Given the description of an element on the screen output the (x, y) to click on. 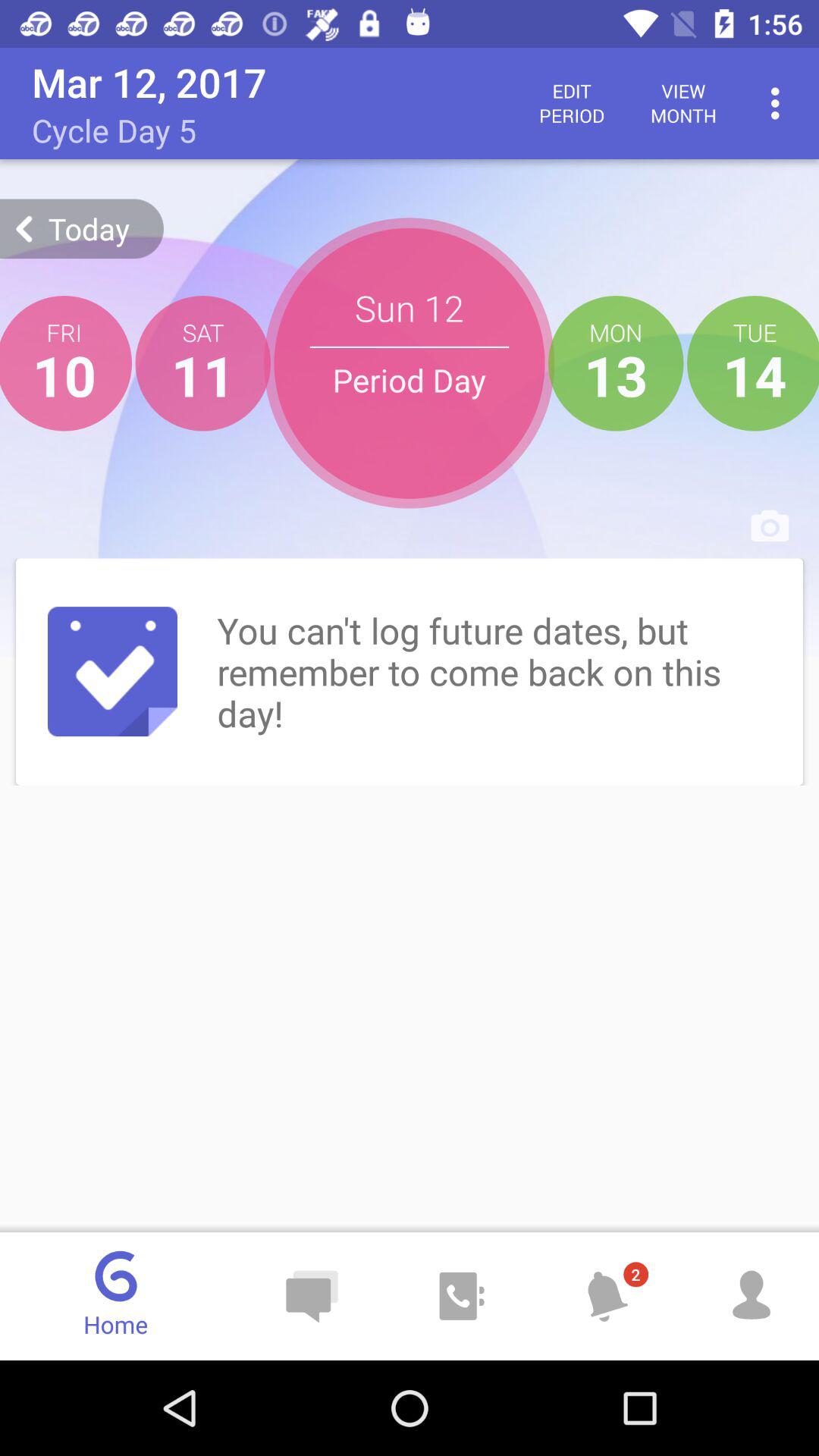
toggle camera (769, 525)
